Given the description of an element on the screen output the (x, y) to click on. 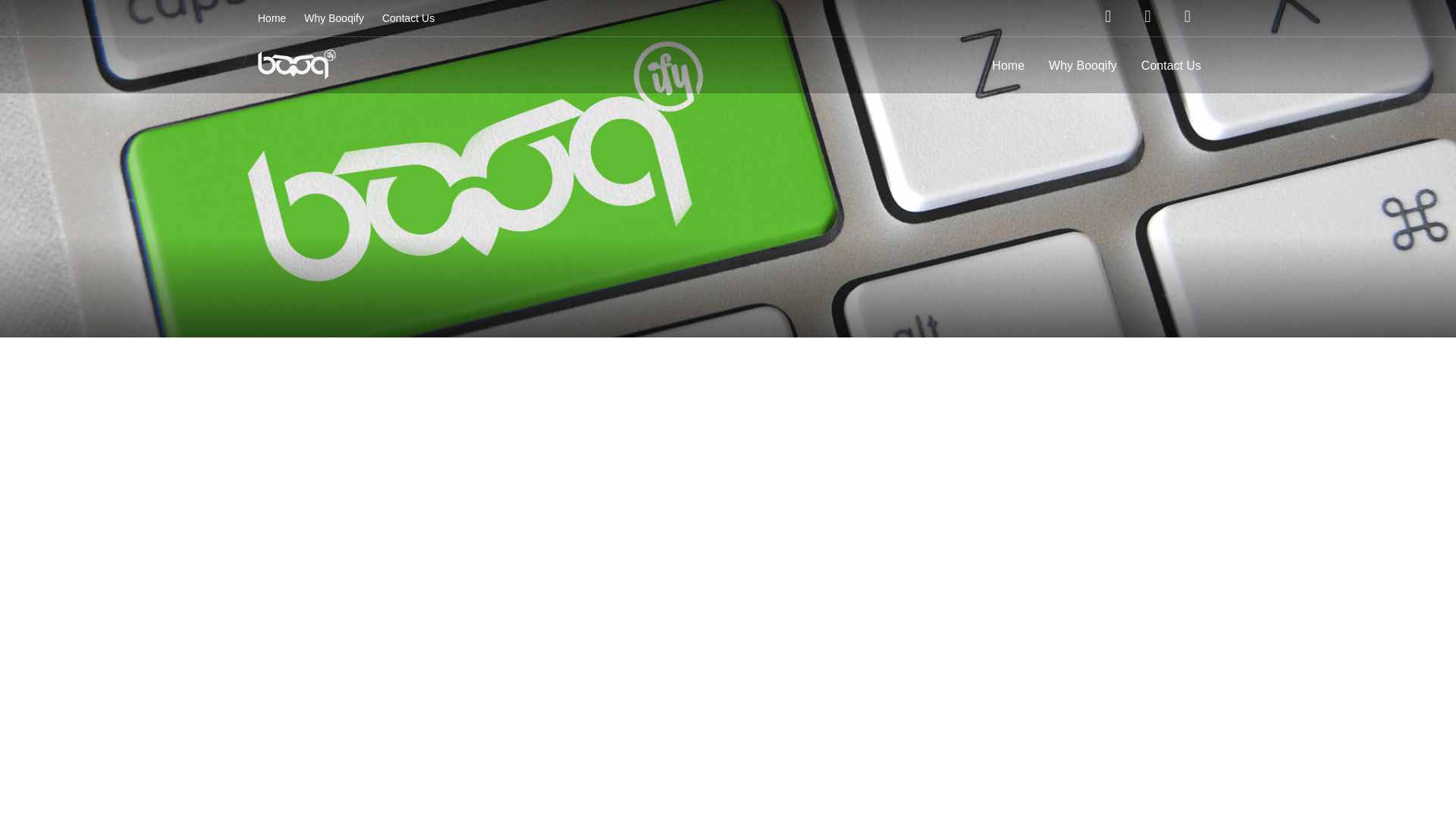
Why Booqify (1082, 64)
Home (271, 18)
Contact Us (408, 18)
Why Booqify (333, 18)
Home (1007, 64)
Contact Us (1170, 64)
